Given the description of an element on the screen output the (x, y) to click on. 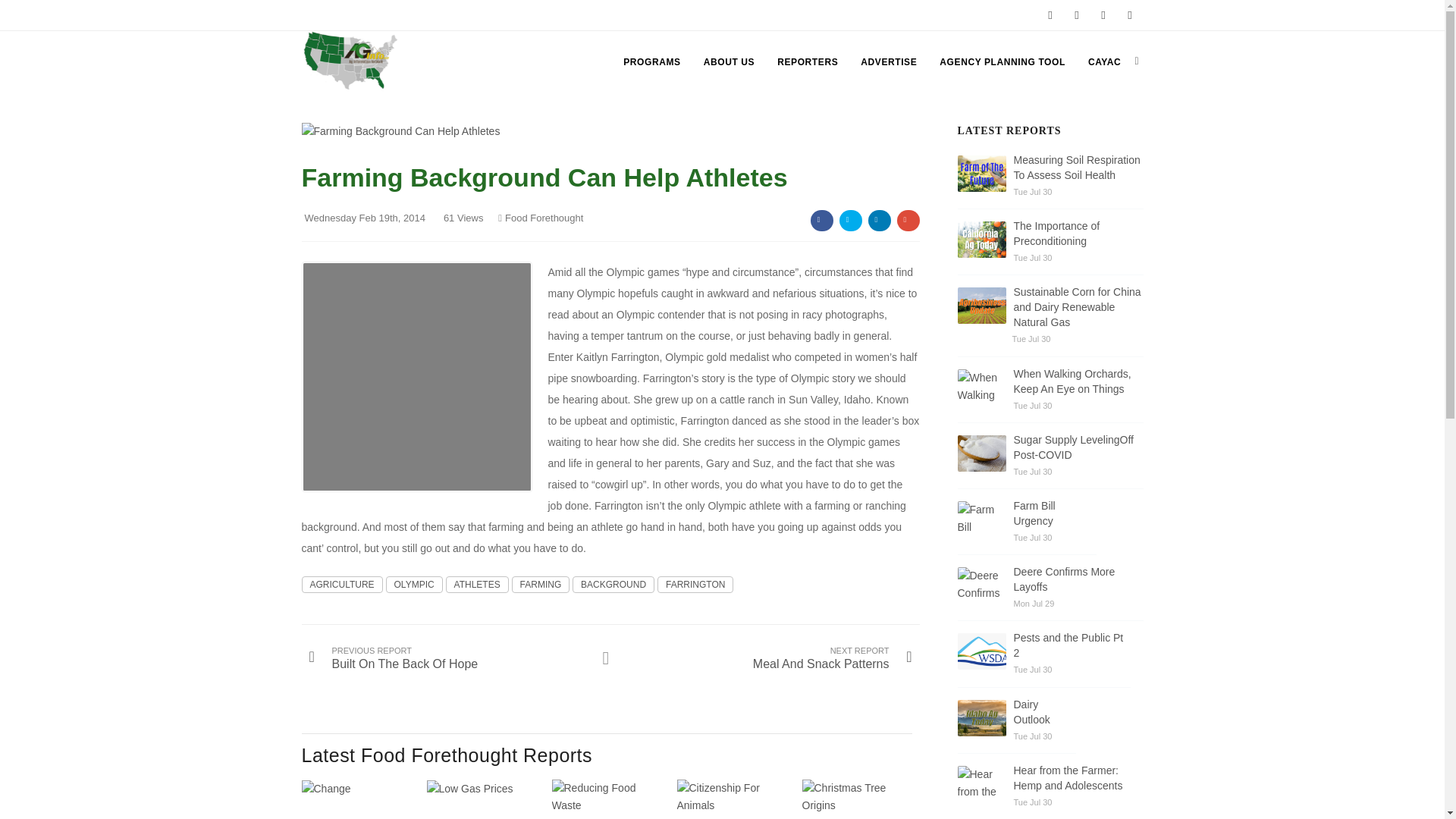
ABOUT US (728, 62)
PROGRAMS (651, 62)
